Given the description of an element on the screen output the (x, y) to click on. 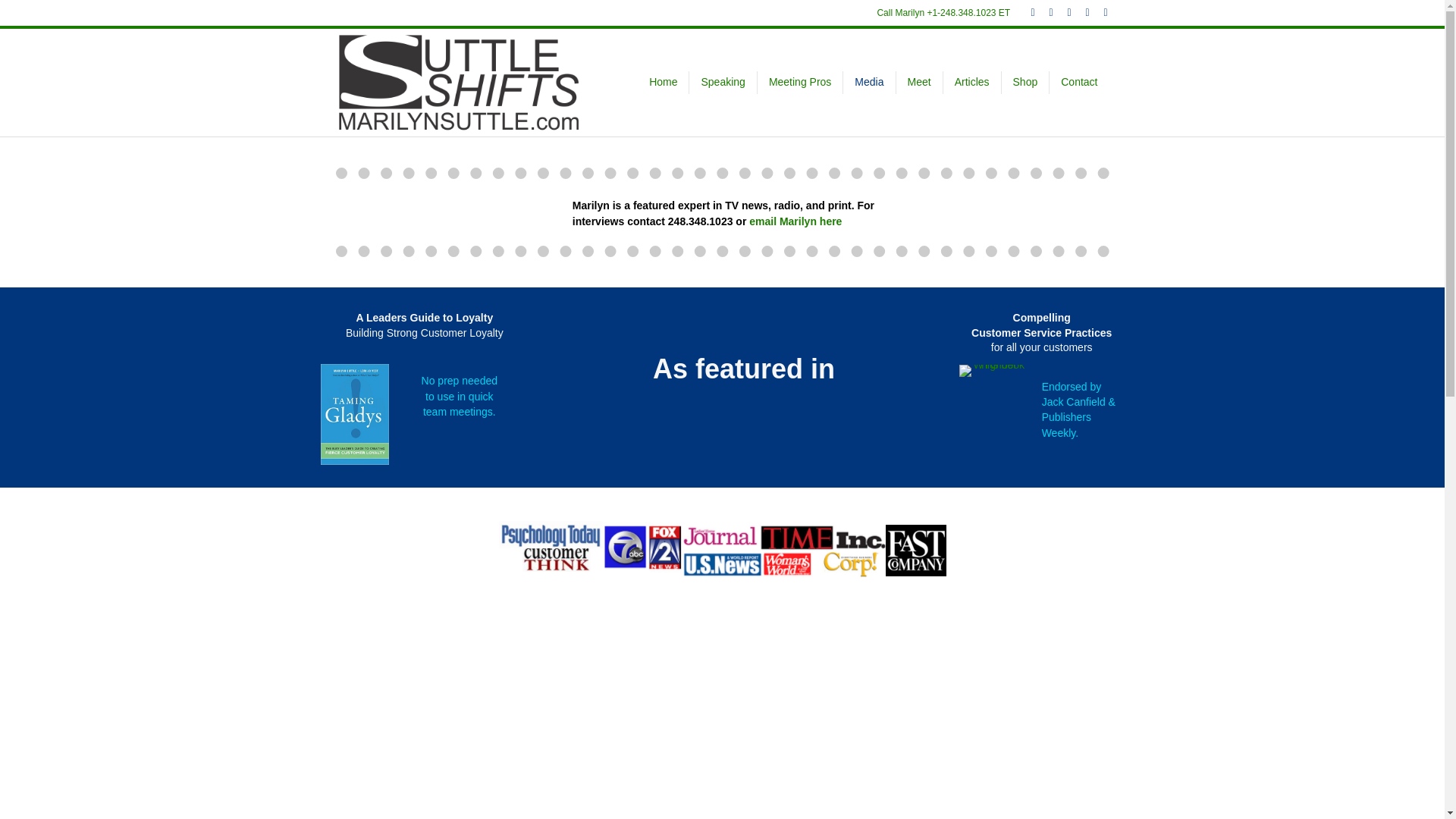
Press (721, 547)
Email (1097, 11)
Articles (972, 82)
Speaking (722, 82)
Facebook (1024, 11)
Home (662, 82)
Click to Email Marilyn Suttle (795, 221)
Meeting Pros (800, 82)
Youtube (1079, 11)
Linkedin (1061, 11)
